Given the description of an element on the screen output the (x, y) to click on. 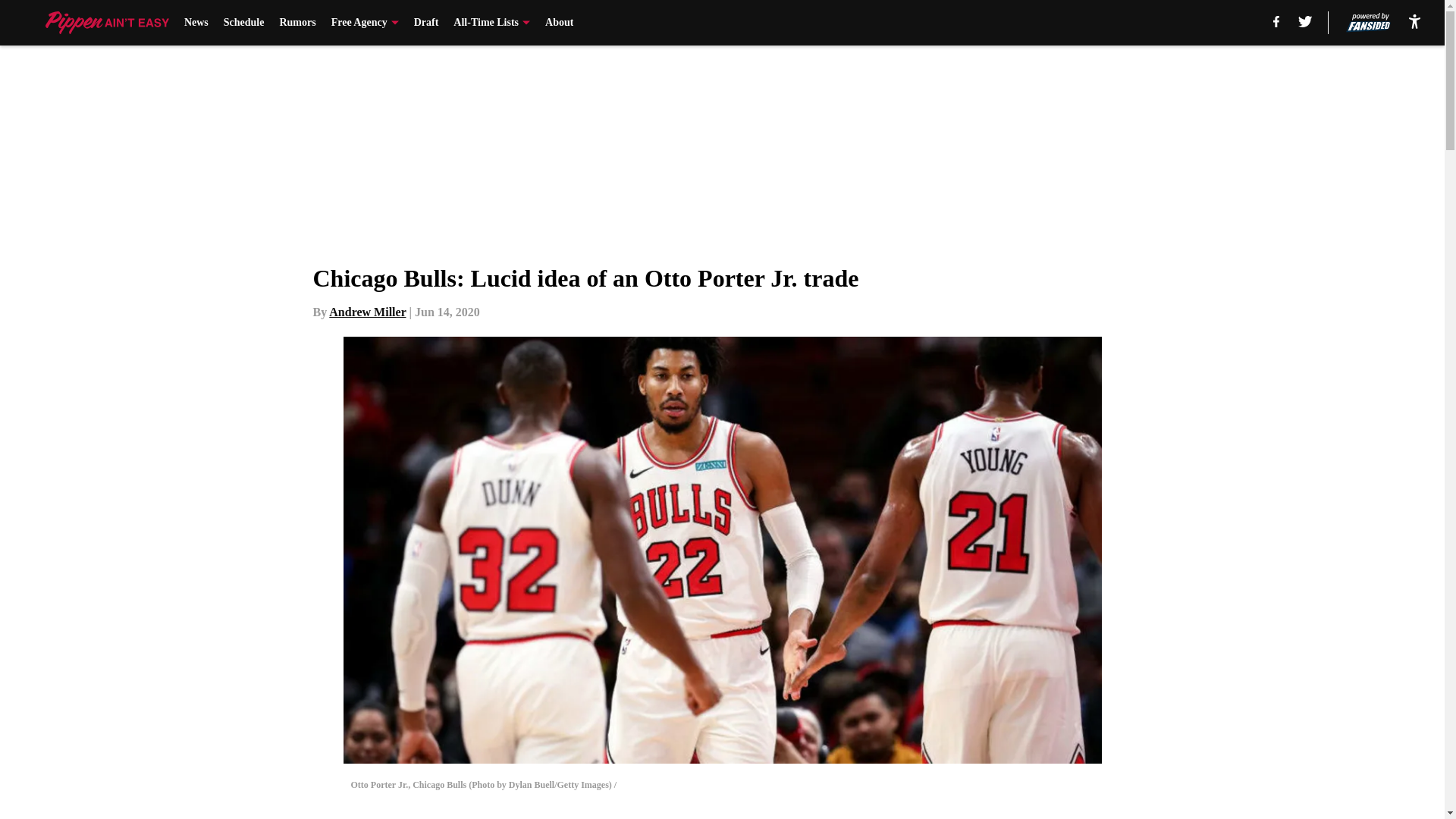
All-Time Lists (490, 22)
Rumors (297, 22)
Andrew Miller (367, 311)
News (196, 22)
Free Agency (364, 22)
Schedule (244, 22)
Draft (426, 22)
About (558, 22)
